Given the description of an element on the screen output the (x, y) to click on. 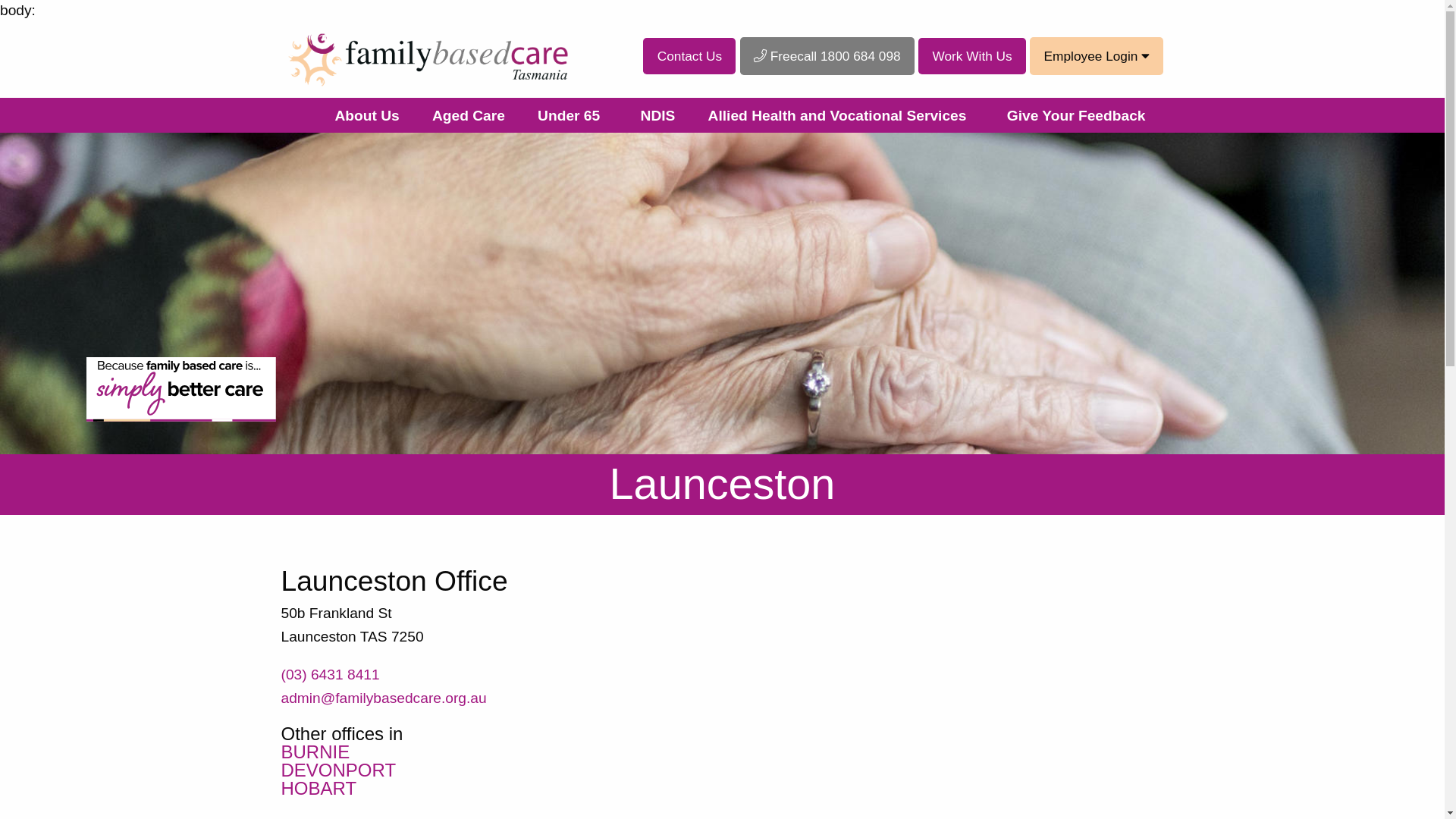
Freecall 1800 684 098 Element type: text (827, 56)
admin@familybasedcare.org.au Element type: text (383, 698)
DEVONPORT Element type: text (337, 769)
Work With Us Element type: text (972, 56)
Employee Login Element type: text (1096, 56)
Allied Health and Vocational Services Element type: text (837, 114)
NDIS Element type: text (656, 114)
Contact Us Element type: text (689, 56)
HOBART Element type: text (318, 788)
Give Your Feedback Element type: text (1076, 114)
About Us Element type: text (364, 114)
(03) 6431 8411 Element type: text (329, 674)
BURNIE Element type: text (314, 751)
Under 65 Element type: text (568, 114)
Family Based Care - Home Page Element type: hover (427, 55)
Aged Care Element type: text (466, 114)
